Given the description of an element on the screen output the (x, y) to click on. 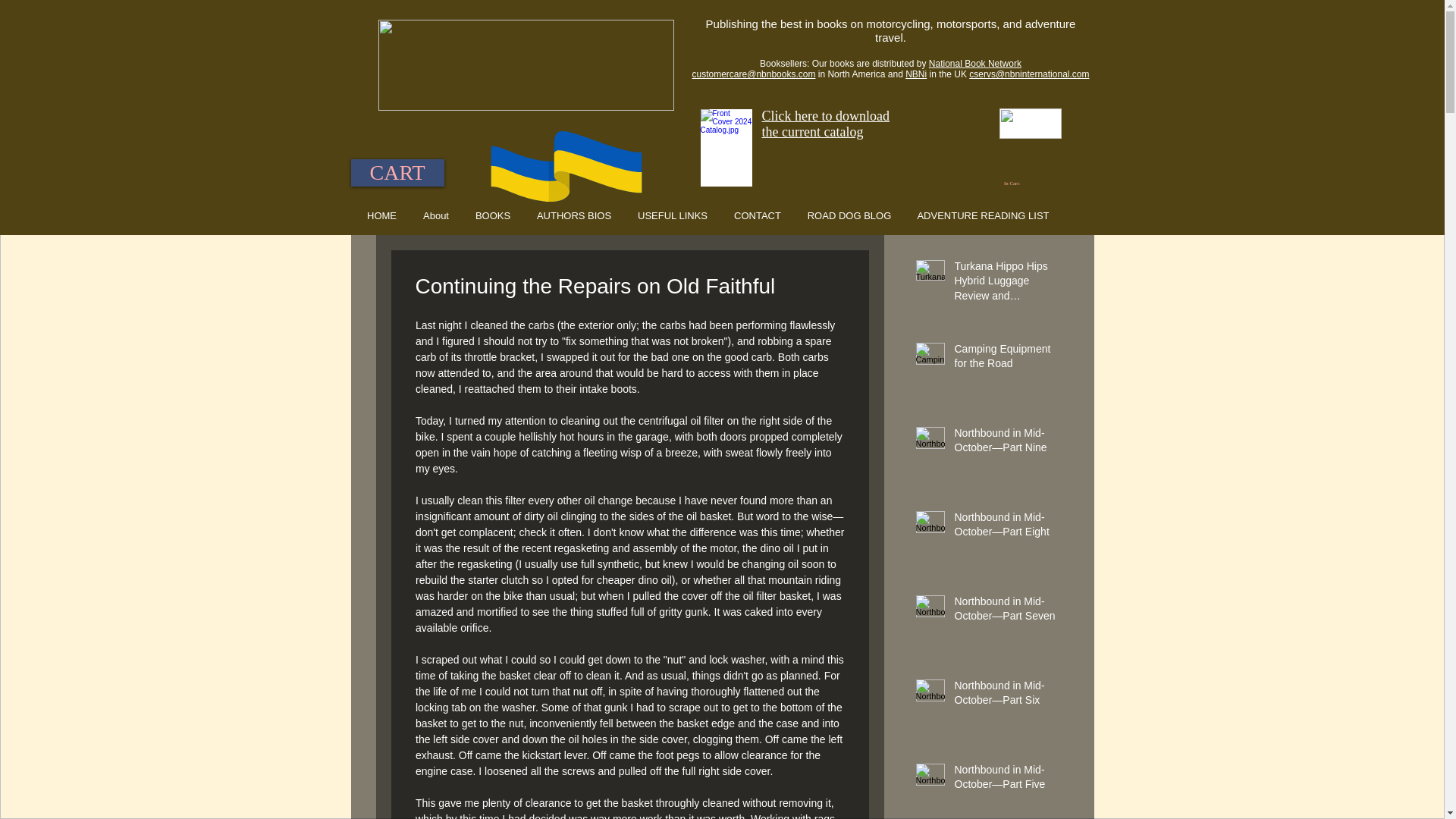
In Cart: (1016, 183)
Click here to download the current catalog (824, 123)
BOOKS (493, 215)
About (435, 215)
AUTHORS BIOS (573, 215)
In Cart: (1016, 183)
NBNi (915, 73)
CONTACT (756, 215)
USEFUL LINKS (672, 215)
ADVENTURE READING LIST (982, 215)
Turkana Hippo Hips Hybrid Luggage Review and Comparison (1007, 284)
NBNLogo2.jpg (1029, 123)
ROAD DOG BLOG (849, 215)
CART (397, 172)
National Book Network (975, 63)
